Given the description of an element on the screen output the (x, y) to click on. 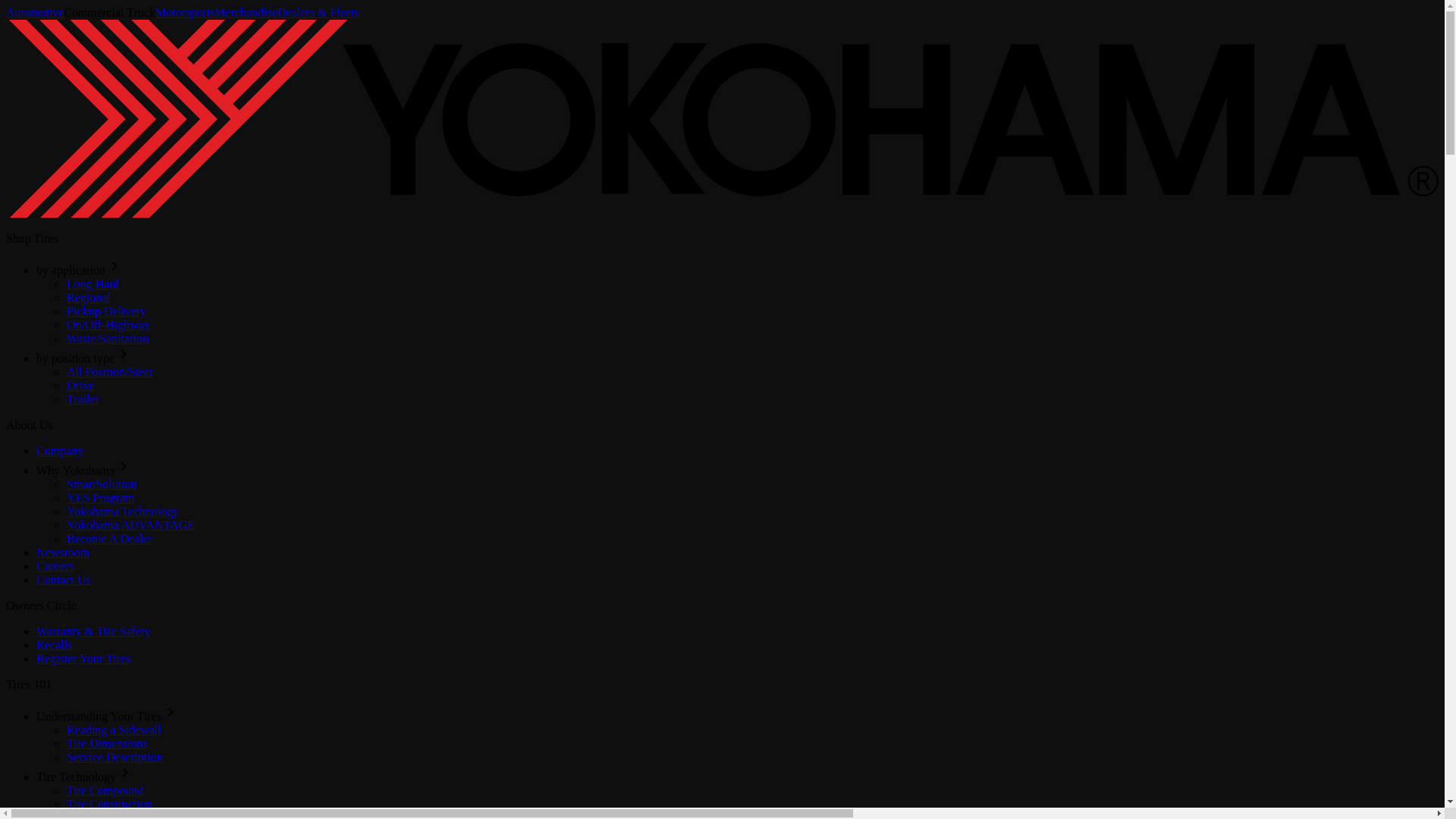
Yokohama Technology (122, 511)
Register Your Tires (83, 658)
YES Program (99, 497)
by position type (75, 358)
Drive (80, 385)
Tire Construction (109, 803)
SmartSolution (101, 483)
Company (59, 450)
Understanding Your Tires (98, 716)
Tire Technology (76, 776)
